Given the description of an element on the screen output the (x, y) to click on. 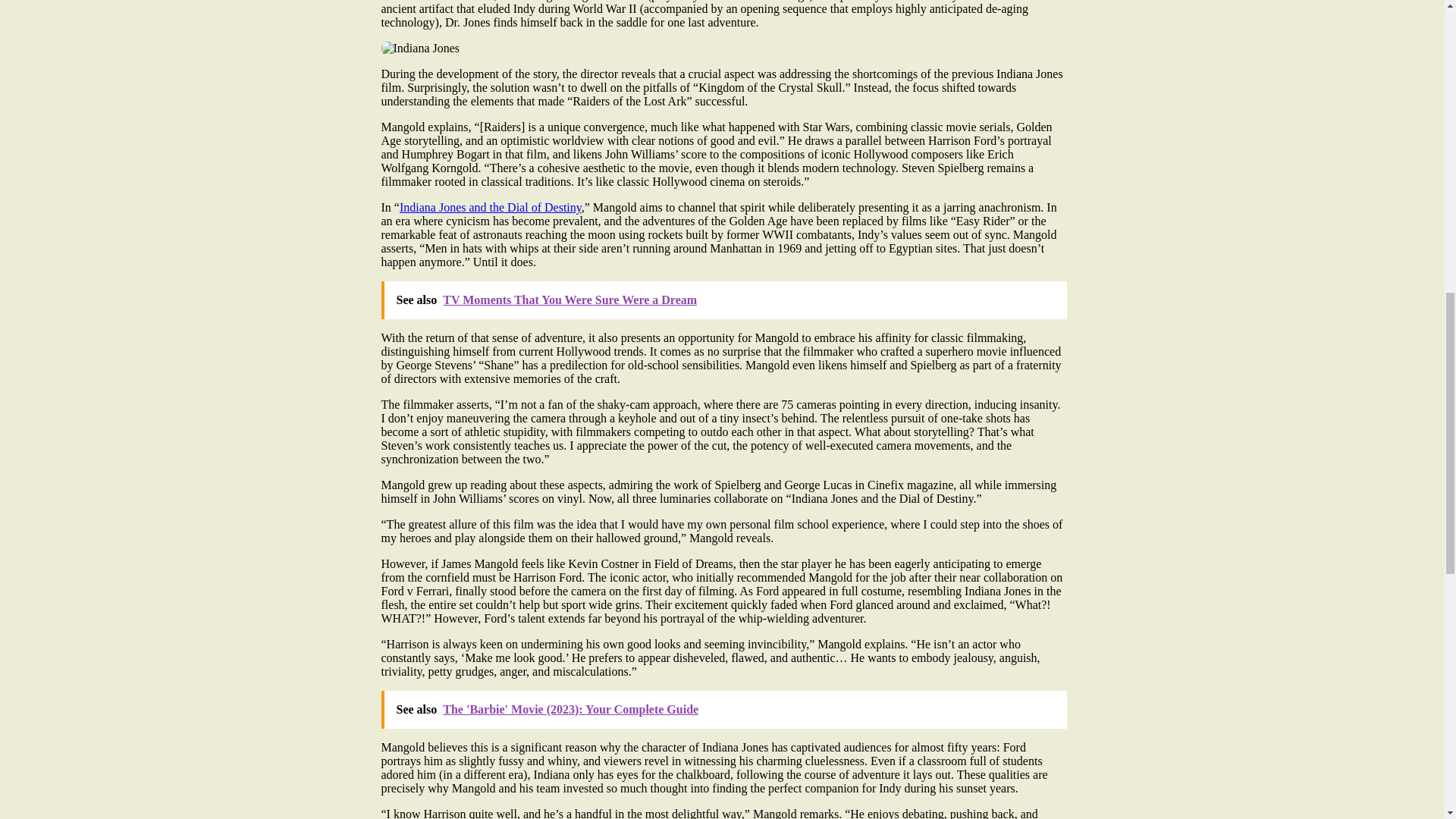
Indiana Jones and the Dial of Destiny (489, 206)
See also  TV Moments That You Were Sure Were a Dream (722, 300)
